Given the description of an element on the screen output the (x, y) to click on. 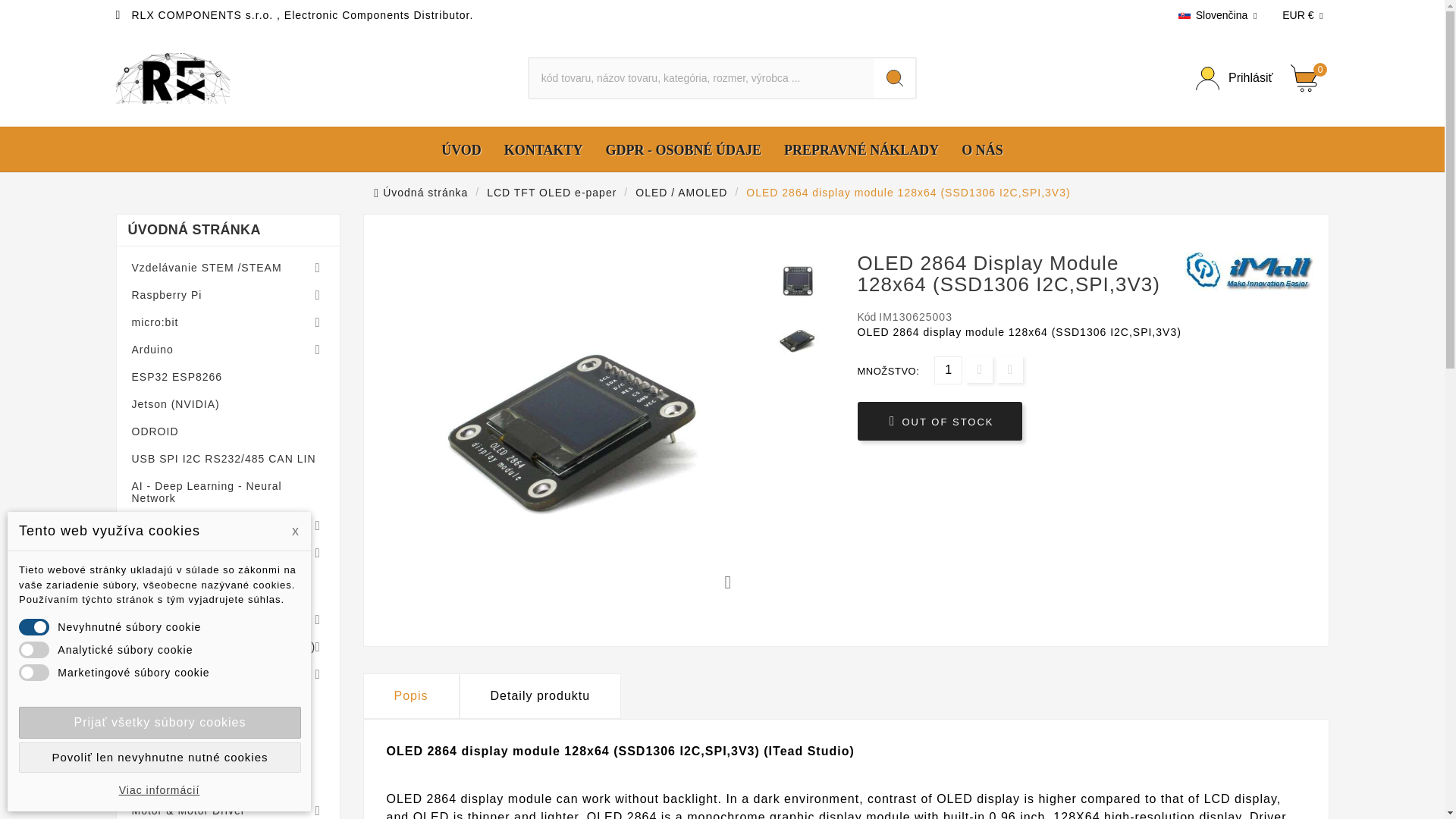
0 (1308, 77)
1 (948, 370)
Kontakty (543, 149)
KONTAKTY (543, 149)
LCD TFT OLED e-paper (550, 191)
ITEAD STUDIO (1249, 271)
Raspberry Pi (228, 294)
